Given the description of an element on the screen output the (x, y) to click on. 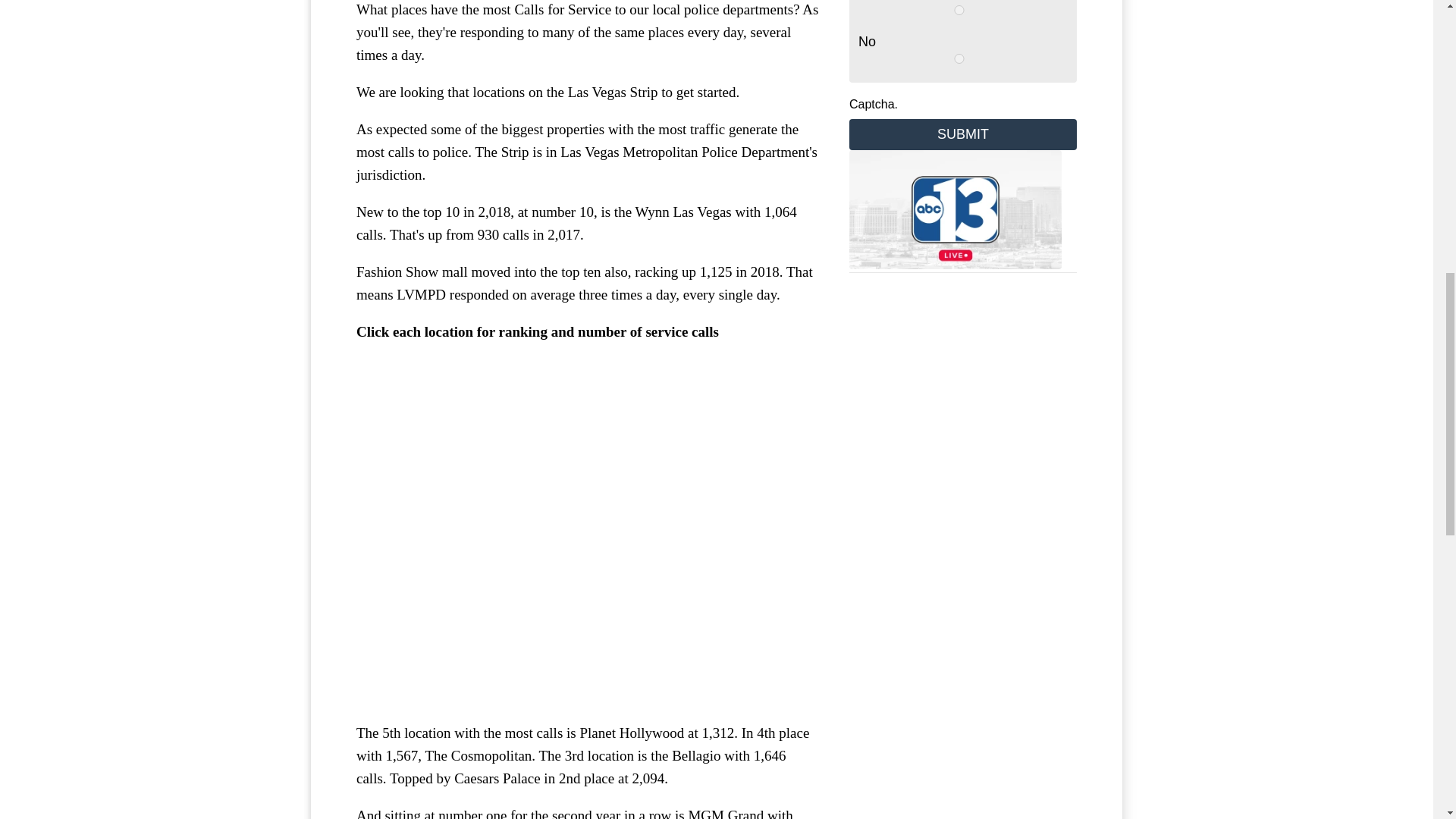
yes (959, 9)
no (959, 58)
